Given the description of an element on the screen output the (x, y) to click on. 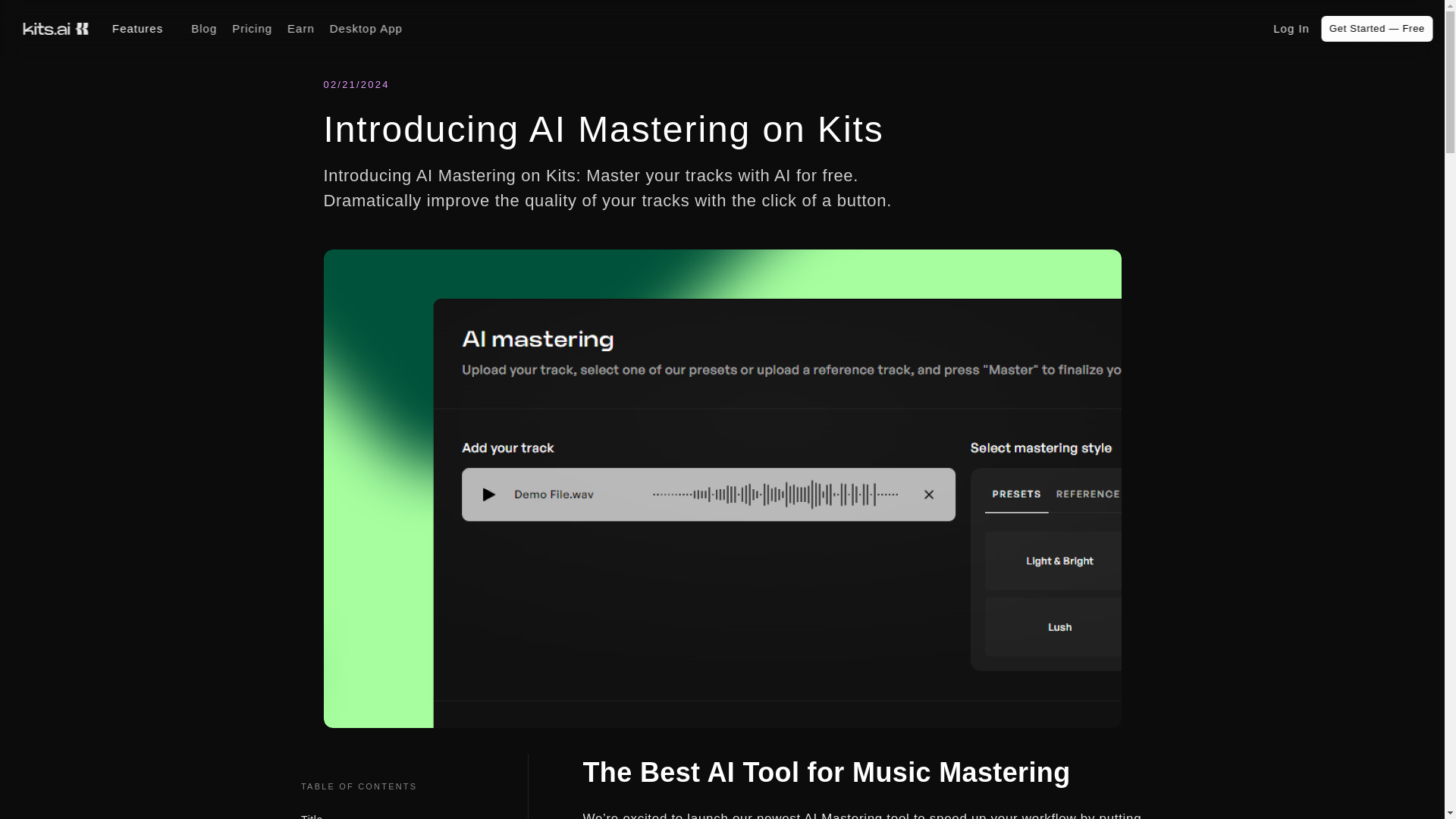
Log In (1290, 28)
Desktop App (366, 28)
Earn (300, 28)
Pricing (251, 28)
Blog (203, 28)
Features (144, 28)
